Given the description of an element on the screen output the (x, y) to click on. 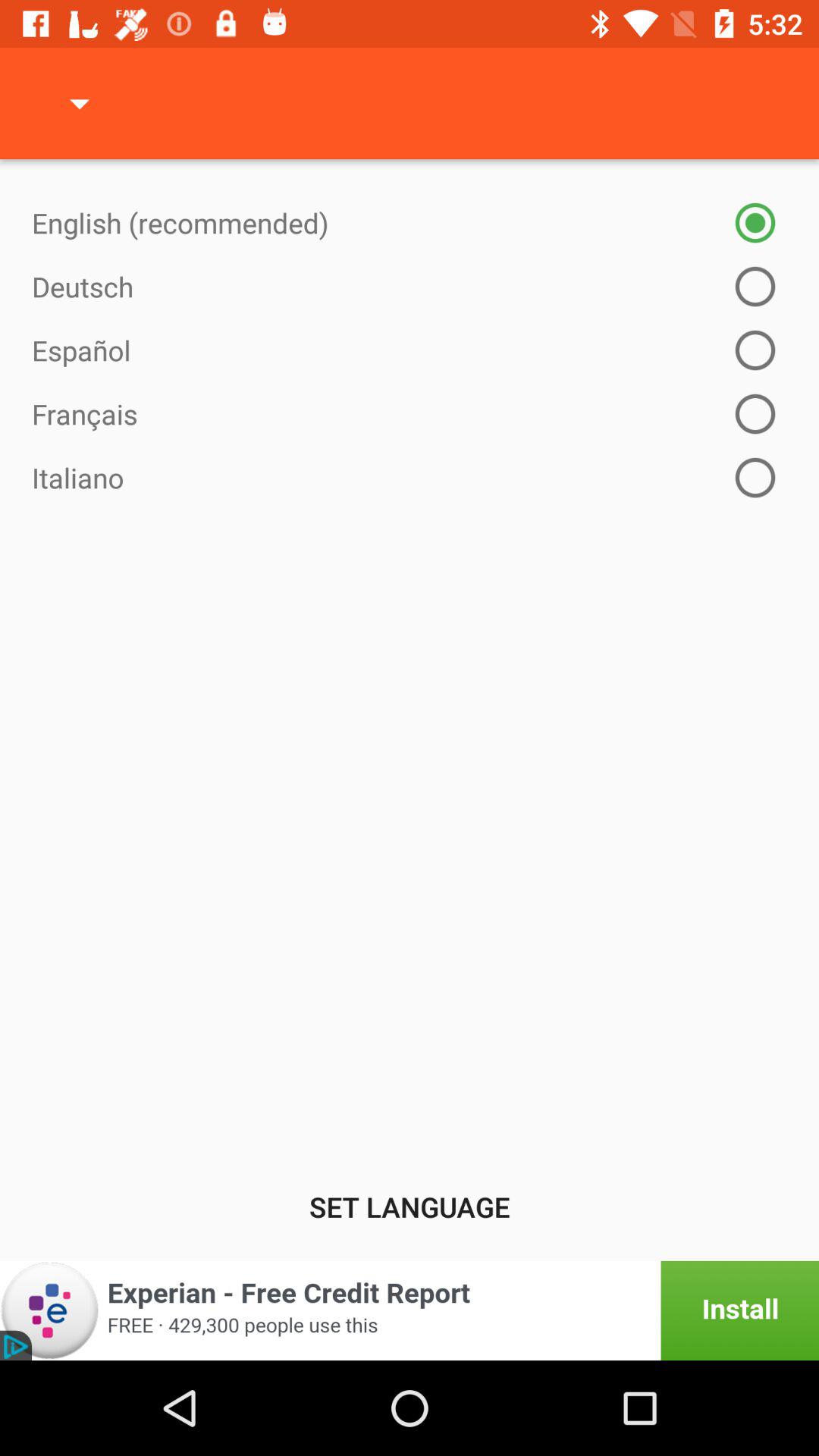
select the icon above english (recommended) (79, 103)
